Given the description of an element on the screen output the (x, y) to click on. 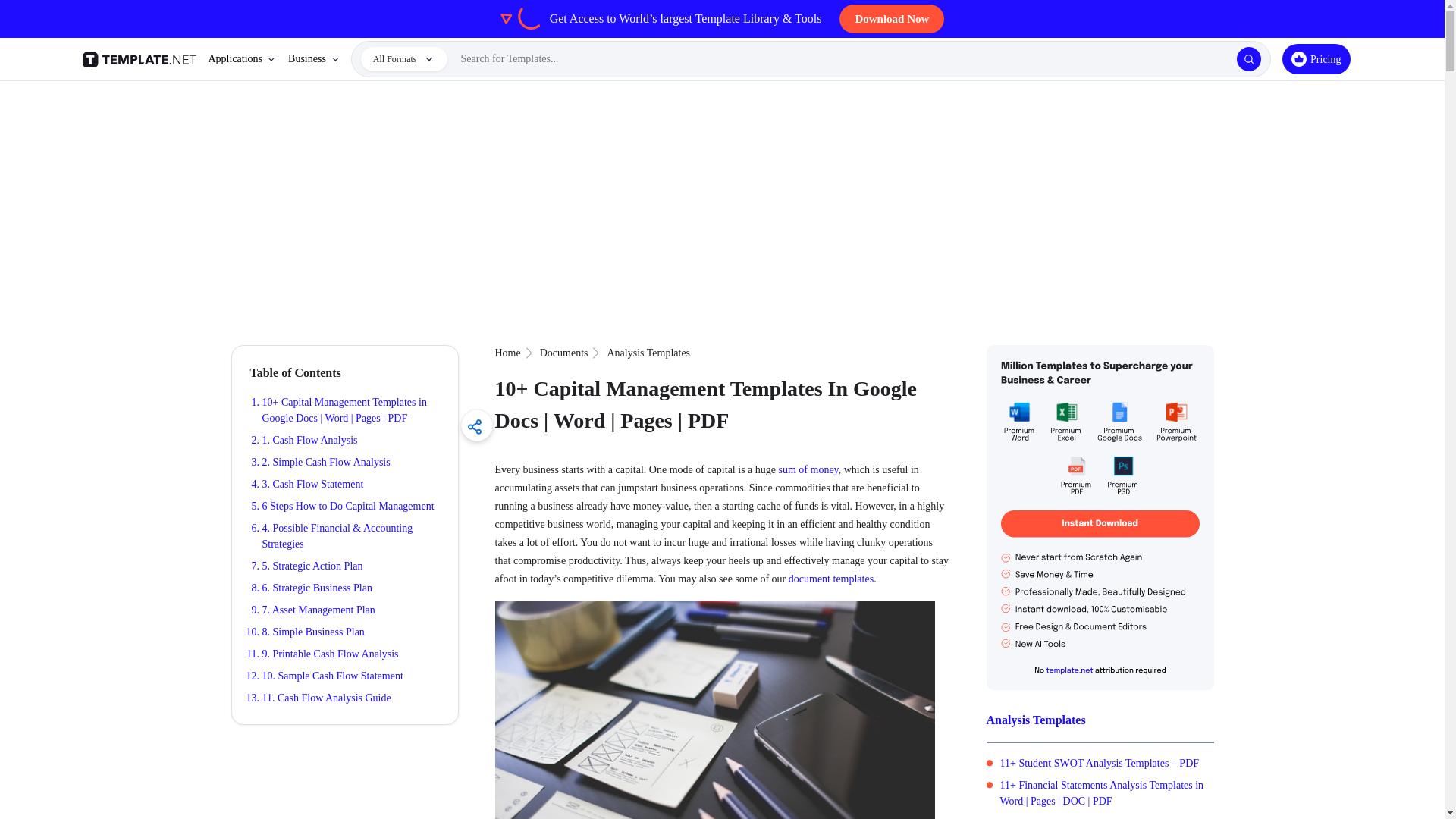
Pricing (1315, 59)
1. Cash Flow Analysis (310, 439)
Download Now (891, 18)
2. Simple Cash Flow Analysis (326, 461)
3. Cash Flow Statement (313, 483)
Template.net (141, 59)
